Given the description of an element on the screen output the (x, y) to click on. 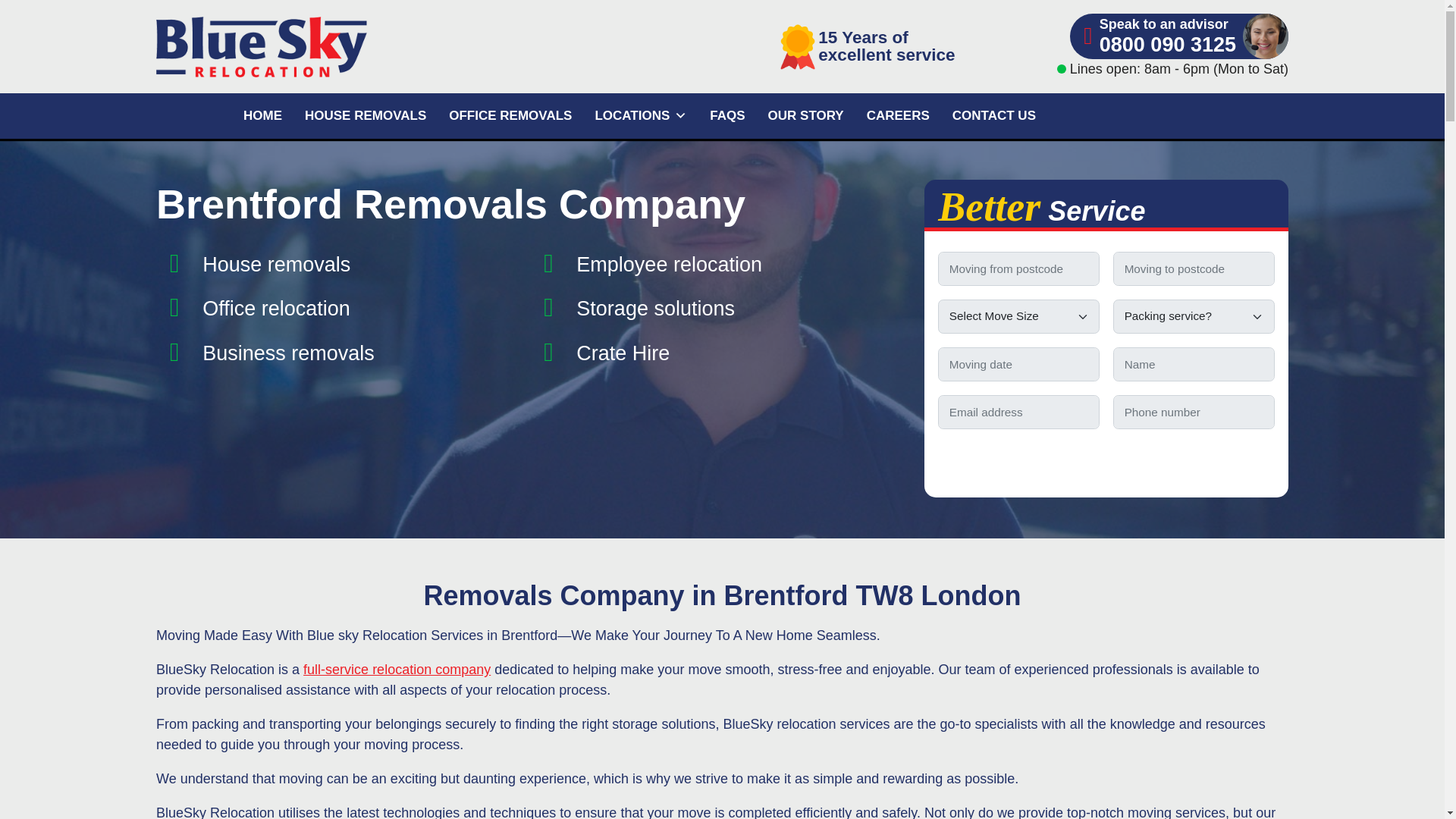
full-service relocation company (396, 669)
CONTACT US (993, 115)
0800 090 3125 (1167, 45)
OFFICE REMOVALS (510, 115)
FAQS (726, 115)
CAREERS (898, 115)
Blue Sky Relocation (337, 46)
Get Instant Price (1106, 459)
LOCATIONS (640, 115)
HOME (262, 115)
HOUSE REMOVALS (366, 115)
OUR STORY (806, 115)
